Given the description of an element on the screen output the (x, y) to click on. 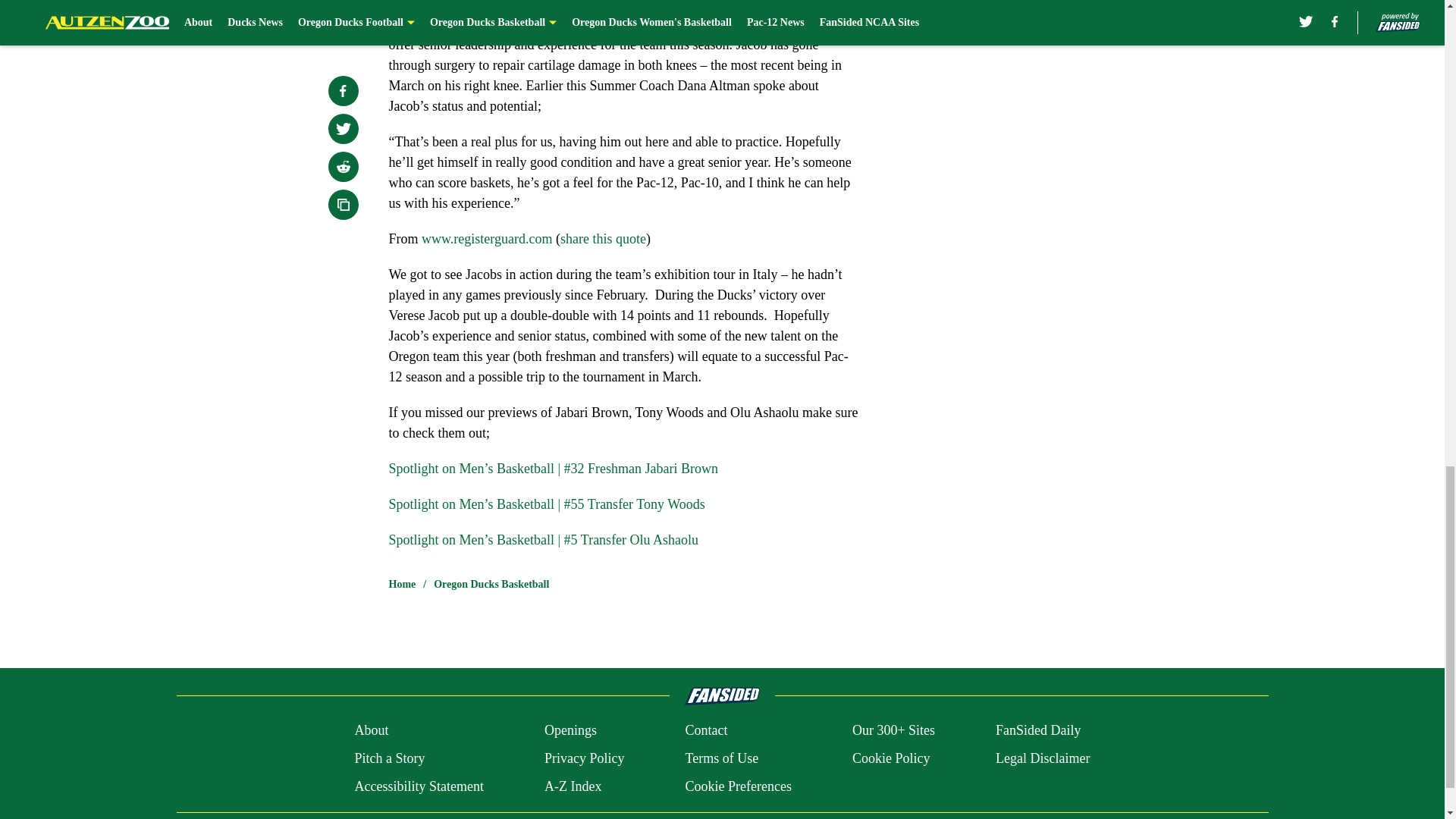
www.registerguard.com (486, 238)
Openings (570, 730)
Terms of Use (721, 758)
Home (401, 584)
Contact (705, 730)
About (370, 730)
Oregon Ducks Basketball (490, 584)
Privacy Policy (584, 758)
Cookie Policy (890, 758)
Legal Disclaimer (1042, 758)
